Given the description of an element on the screen output the (x, y) to click on. 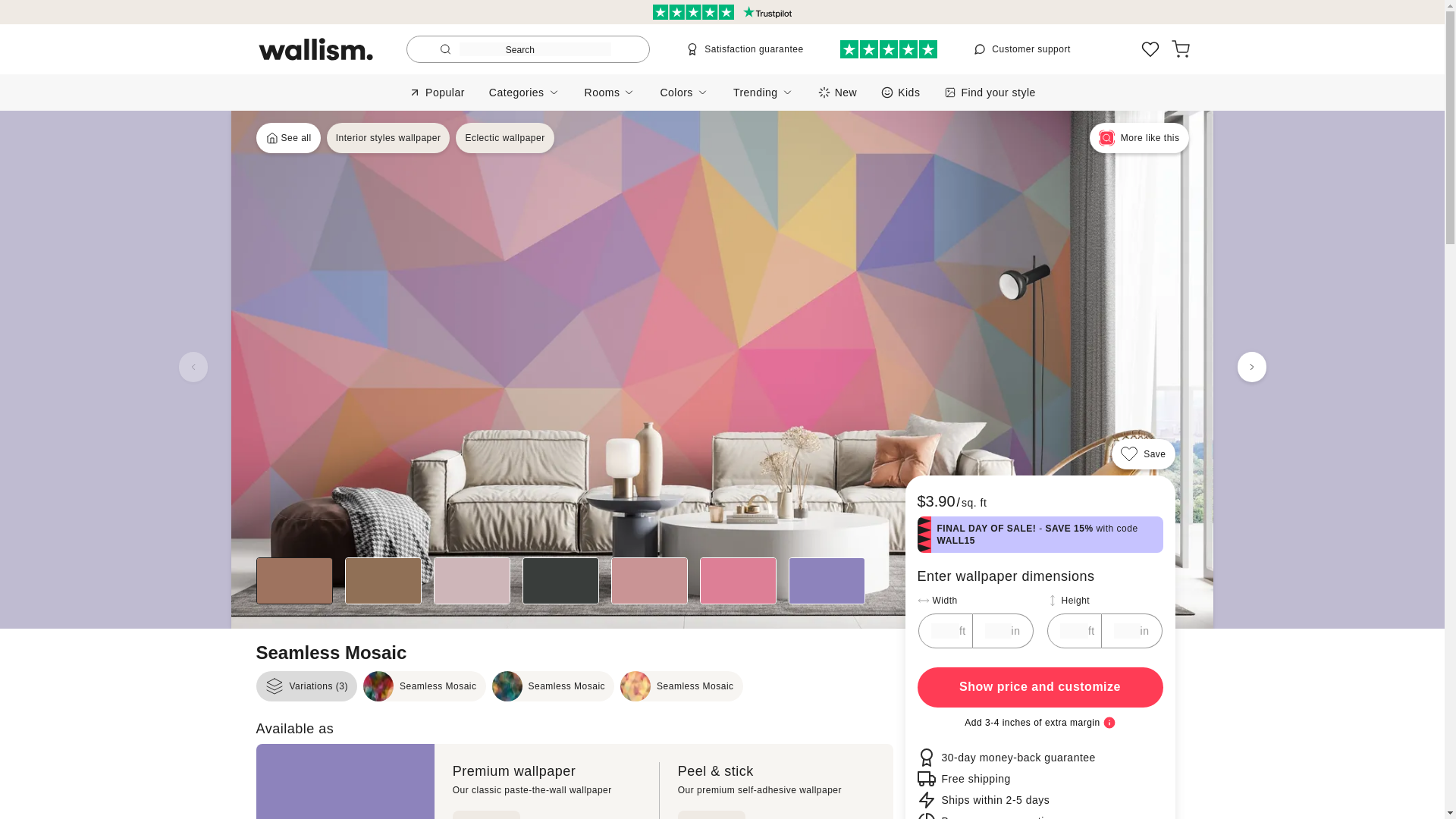
Seamless Mosaic (681, 685)
Customer support (1022, 49)
Seamless Mosaic (504, 137)
Kids (424, 685)
Popular (387, 137)
Satisfaction guarantee (900, 91)
See all (436, 91)
Show price and customize (744, 49)
